Given the description of an element on the screen output the (x, y) to click on. 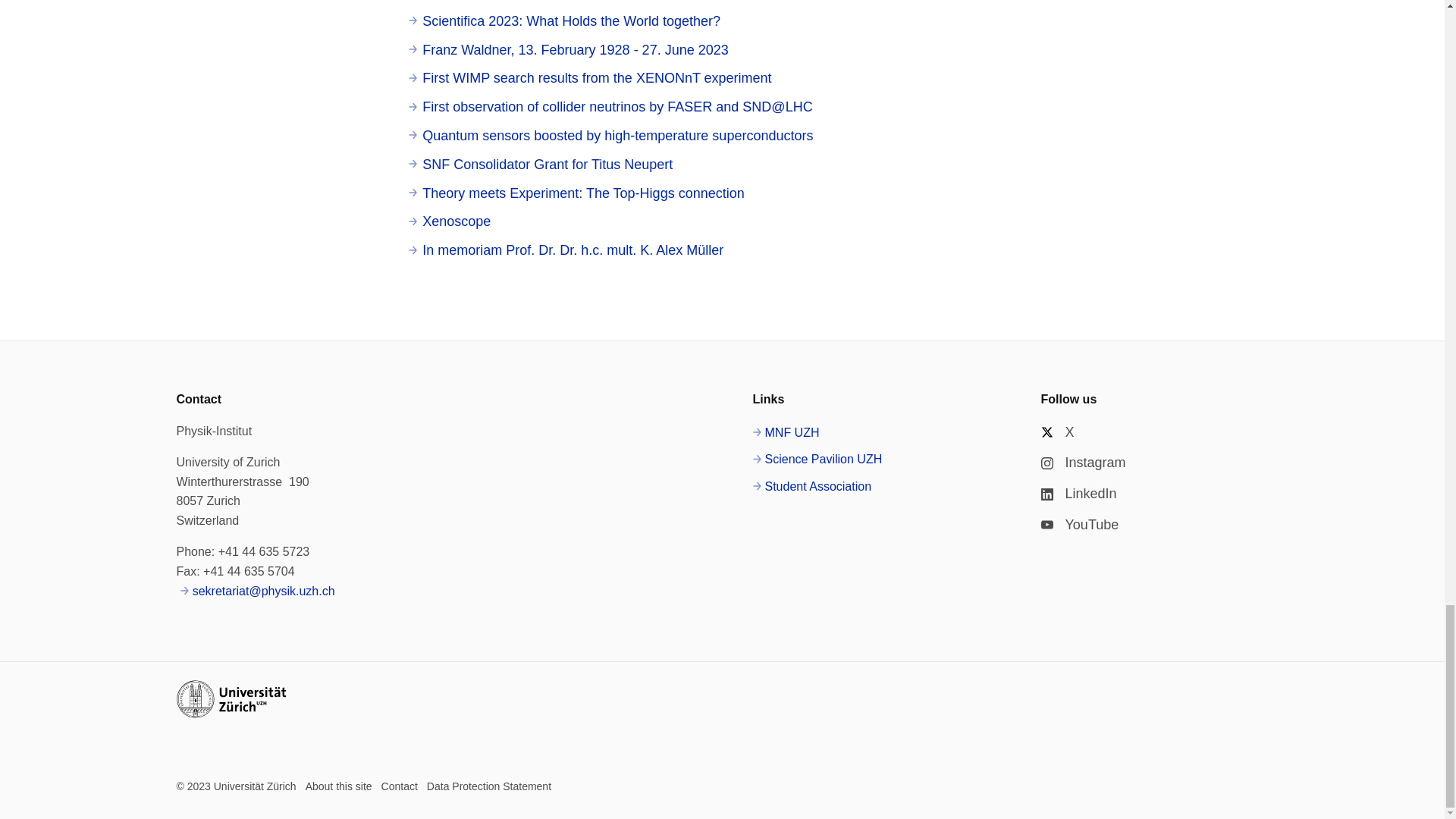
Student Association (811, 486)
MNF UZH (785, 433)
Science Pavilion UZH (817, 459)
